Given the description of an element on the screen output the (x, y) to click on. 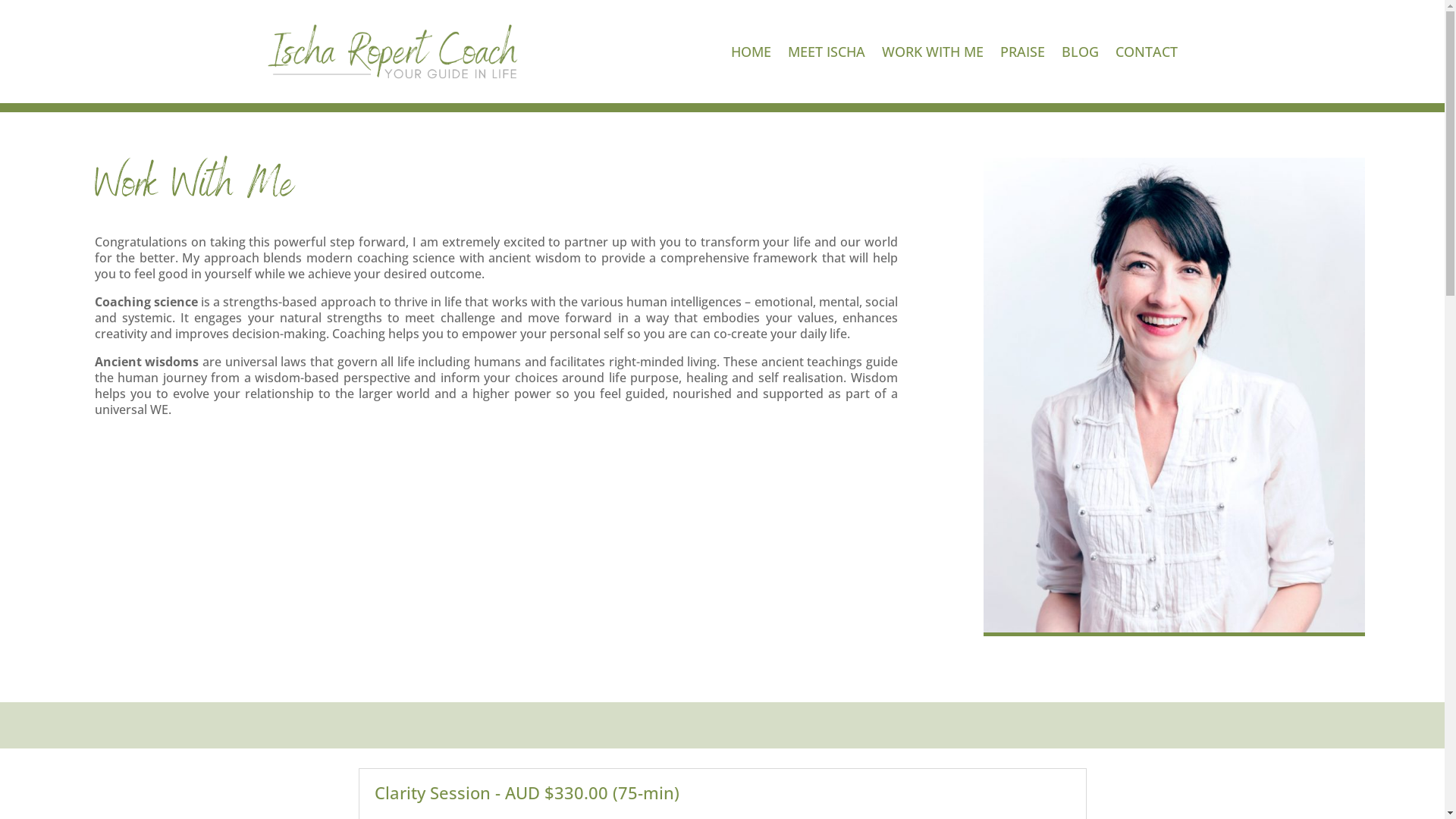
CONTACT Element type: text (1145, 51)
BLOG Element type: text (1079, 51)
PRAISE Element type: text (1021, 51)
WORK WITH ME Element type: text (931, 51)
MEET ISCHA Element type: text (825, 51)
HOME Element type: text (751, 51)
